Given the description of an element on the screen output the (x, y) to click on. 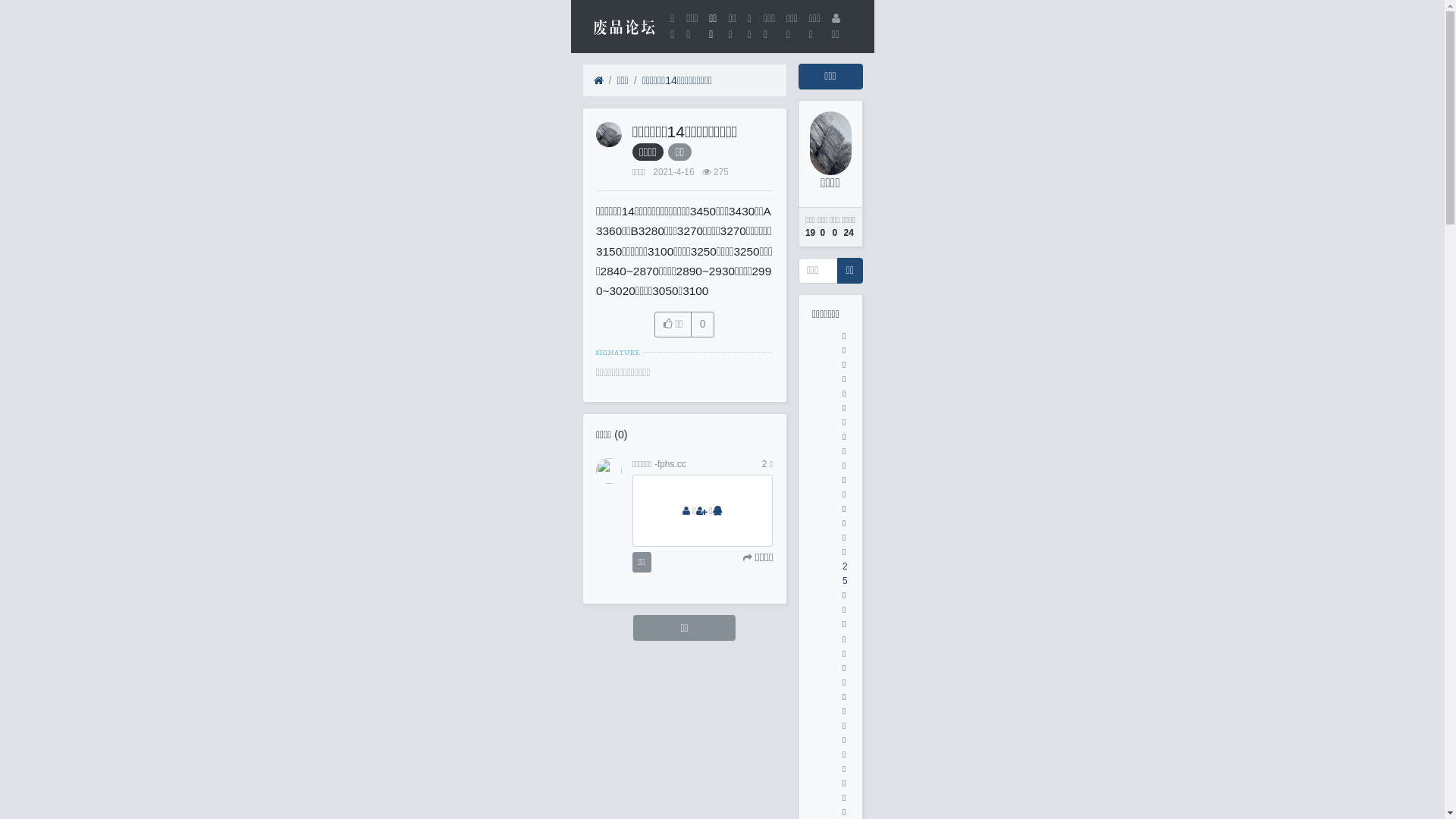
  Element type: text (702, 510)
  Element type: text (687, 510)
0 Element type: text (702, 324)
  Element type: text (718, 510)
